Given the description of an element on the screen output the (x, y) to click on. 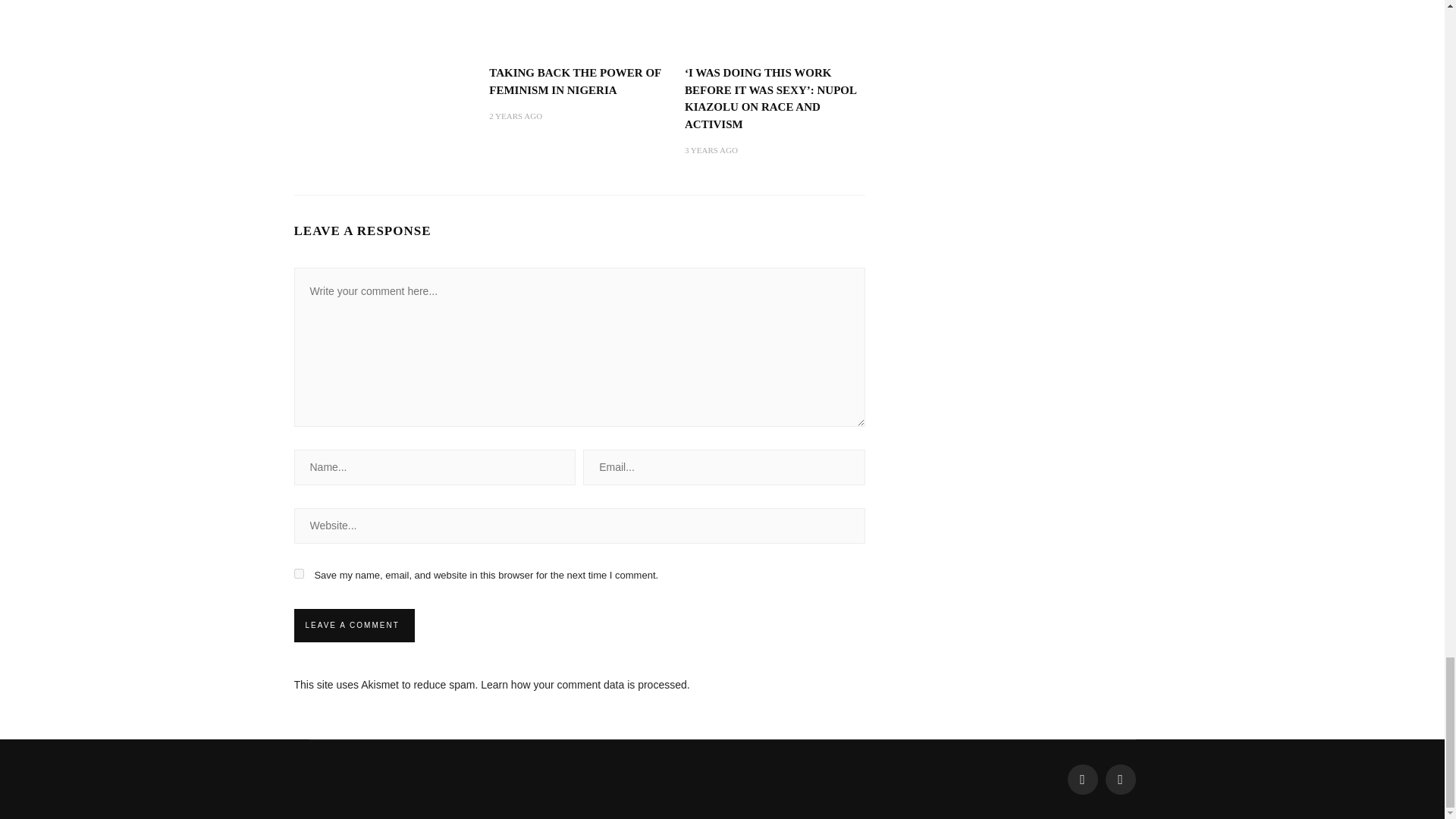
yes (299, 573)
Leave a comment (351, 625)
Taking Back The Power Of Feminism In Nigeria (575, 81)
